Given the description of an element on the screen output the (x, y) to click on. 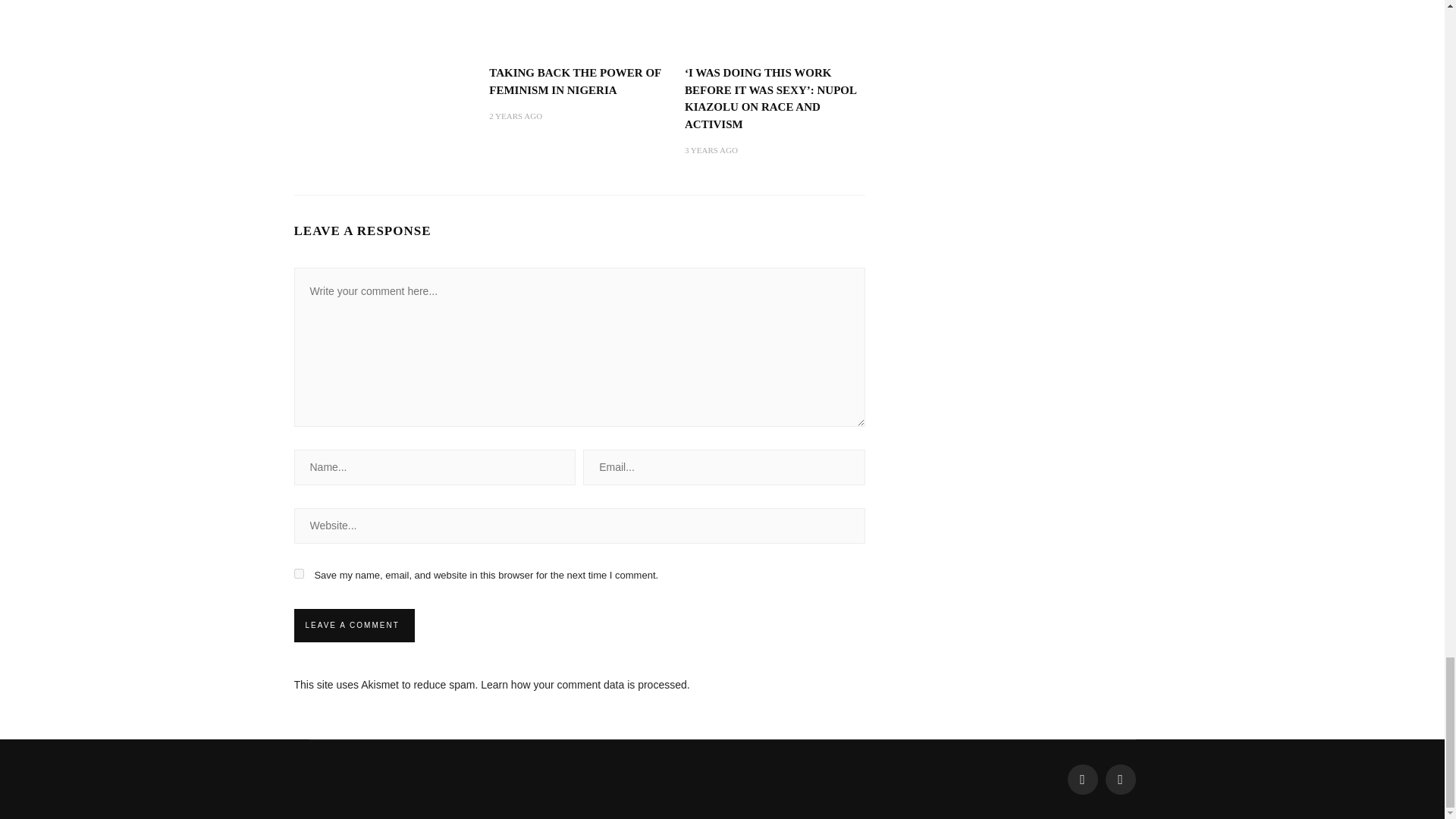
yes (299, 573)
Leave a comment (351, 625)
Taking Back The Power Of Feminism In Nigeria (575, 81)
